Given the description of an element on the screen output the (x, y) to click on. 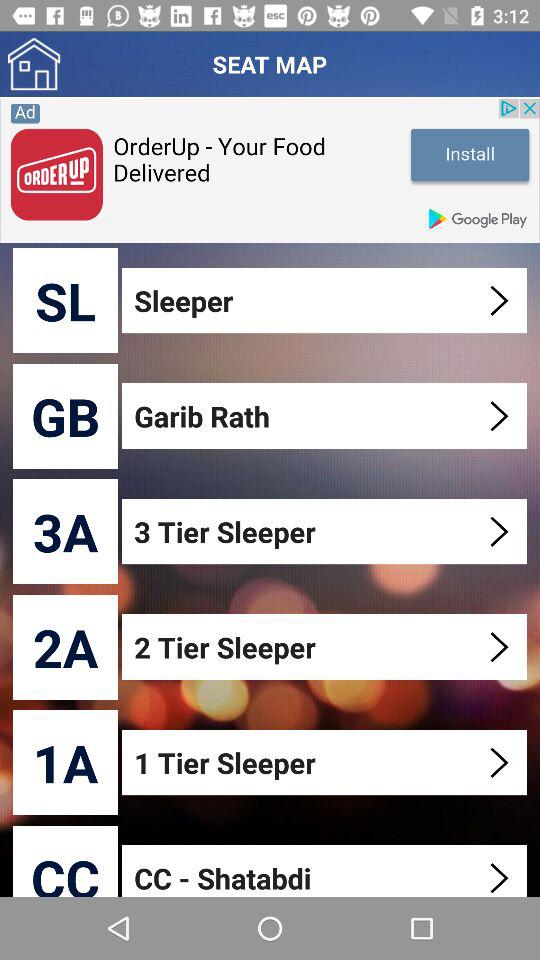
launch gb icon (65, 415)
